Given the description of an element on the screen output the (x, y) to click on. 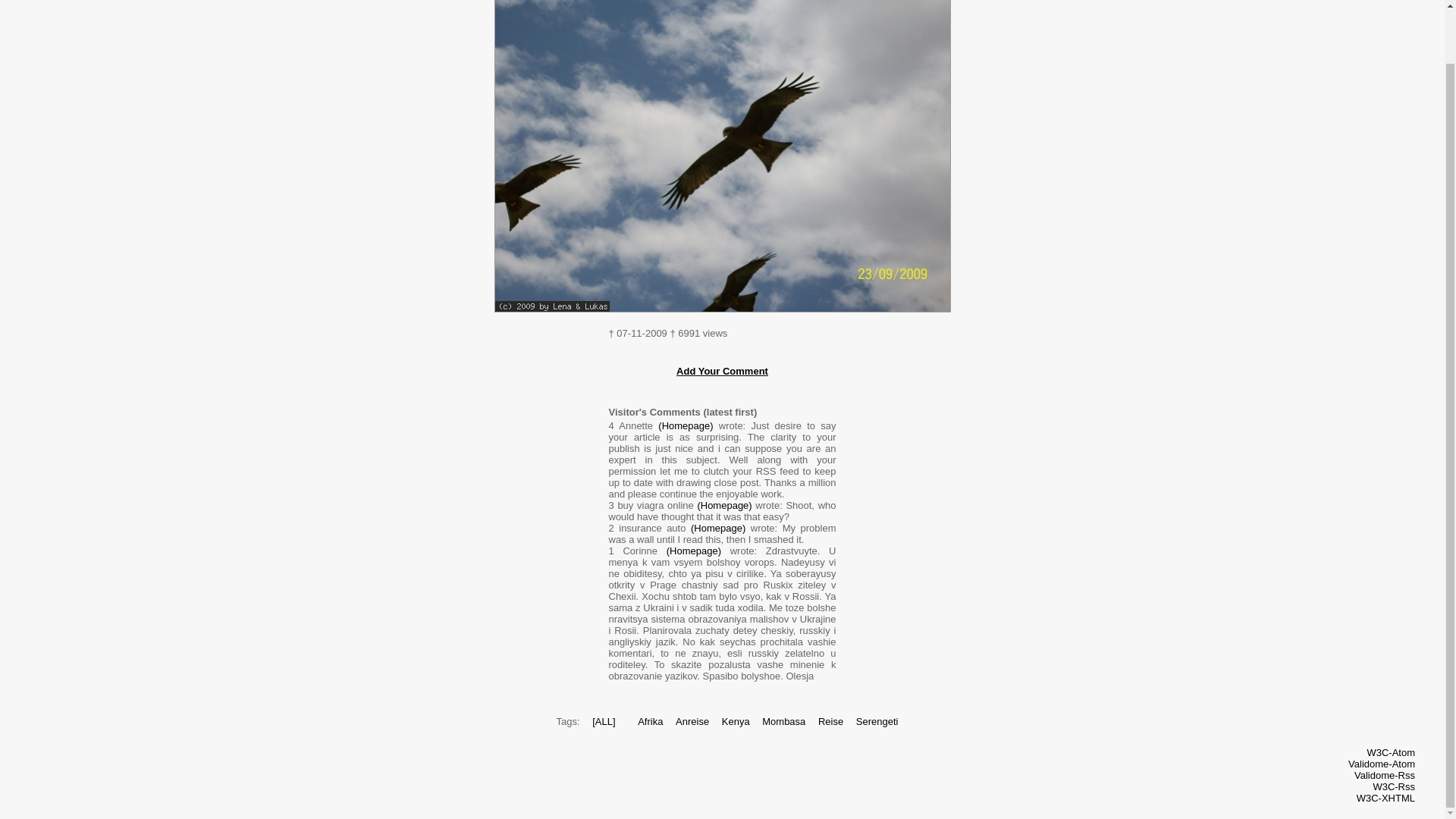
Add Your Comment (722, 370)
W3C-Rss (1394, 786)
Kenya (735, 721)
W3C-Atom (1391, 752)
Mombasa (783, 721)
Reise (830, 721)
Afrika (649, 721)
W3C-XHTML (1385, 797)
Serengeti (877, 721)
Anreise (692, 721)
Validome-Rss (1384, 775)
Validome-Atom (1381, 763)
